Given the description of an element on the screen output the (x, y) to click on. 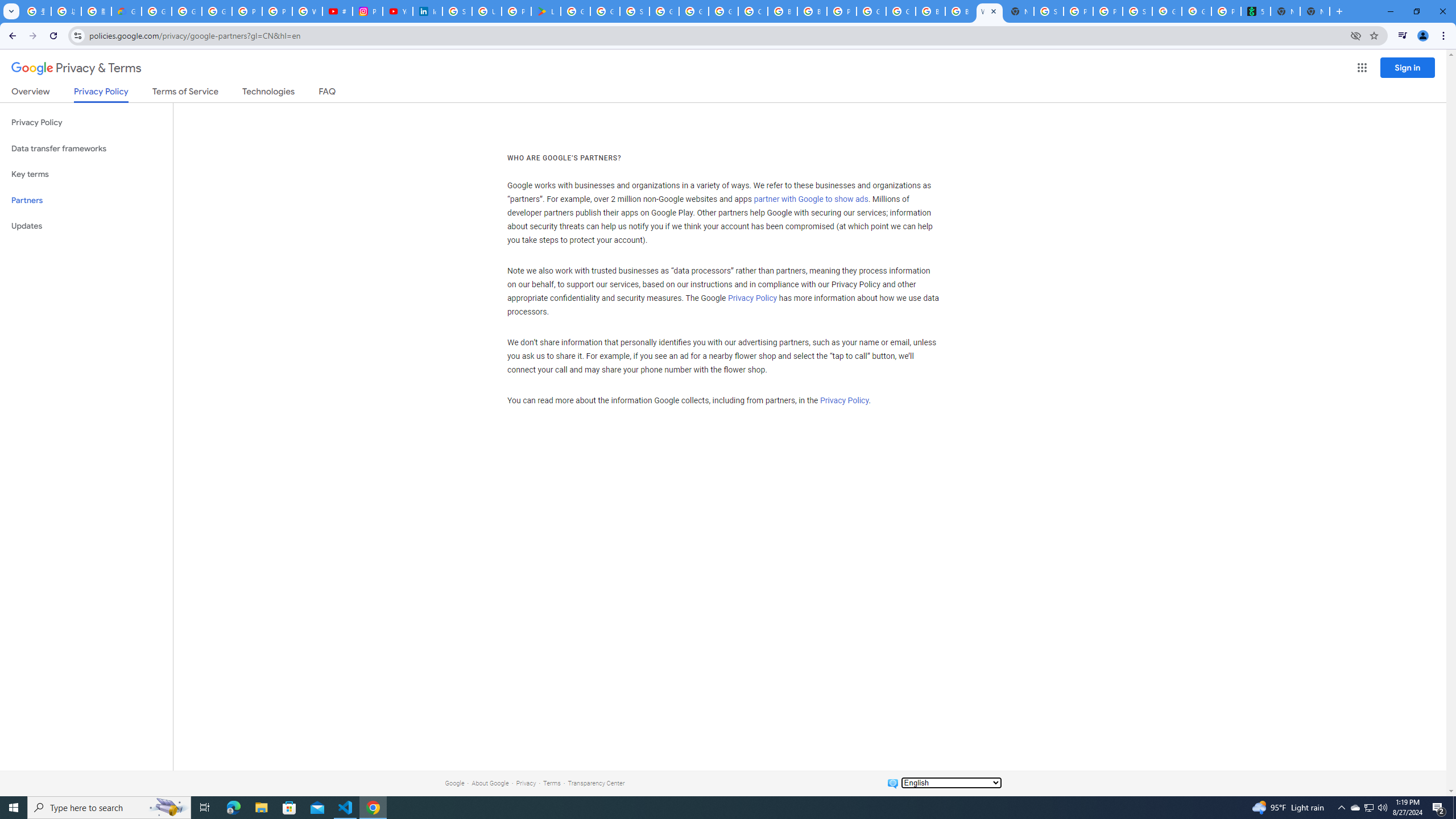
Sign in - Google Accounts (1048, 11)
